Given the description of an element on the screen output the (x, y) to click on. 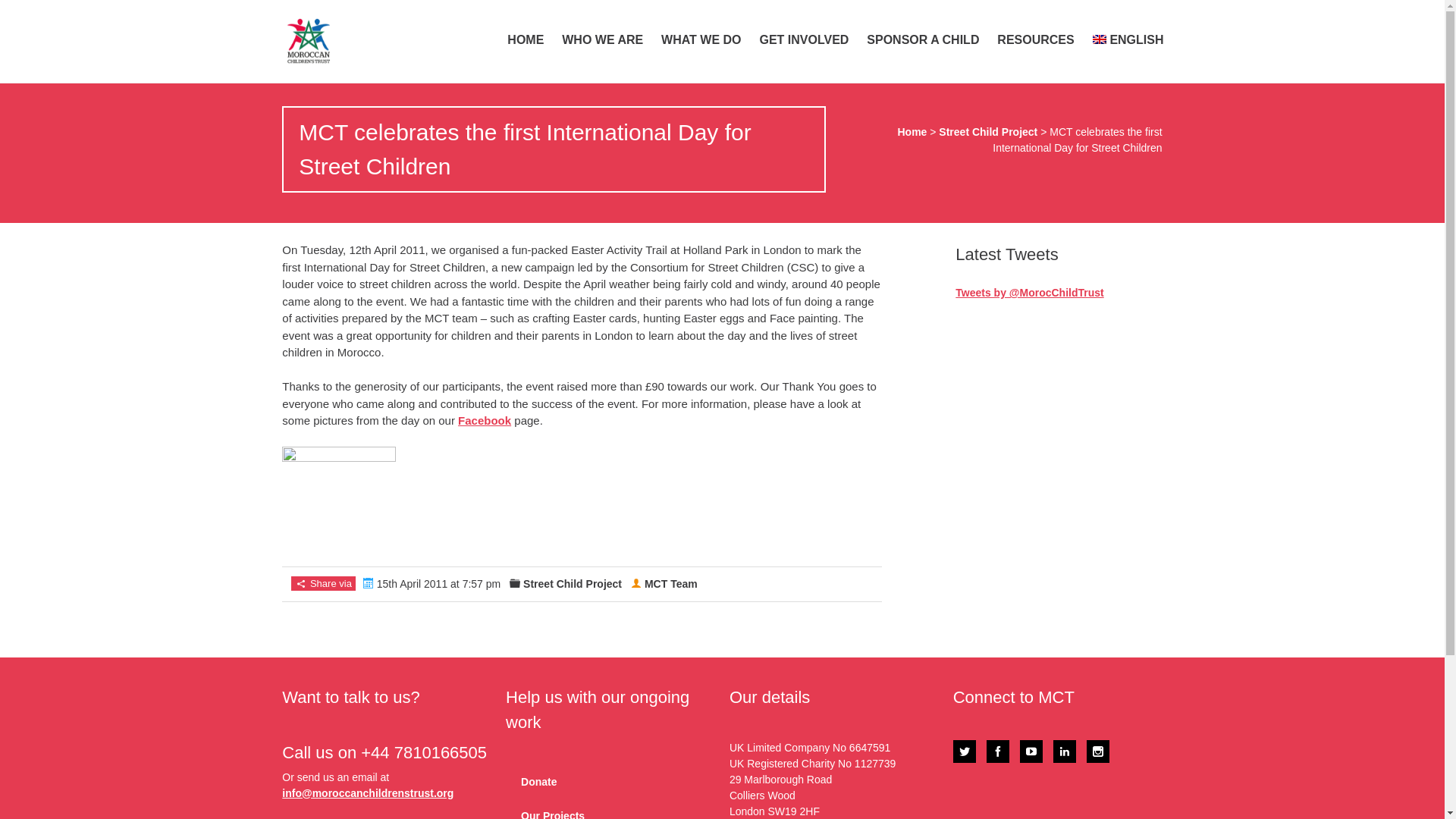
View your shopping cart (1074, 15)
GET INVOLVED (803, 40)
Street Child Project (987, 132)
Facebook (998, 751)
Facebook (983, 15)
Instagram (1013, 15)
Facepaint (339, 503)
YouTube (1031, 751)
English (1128, 40)
ENGLISH (1128, 40)
